Given the description of an element on the screen output the (x, y) to click on. 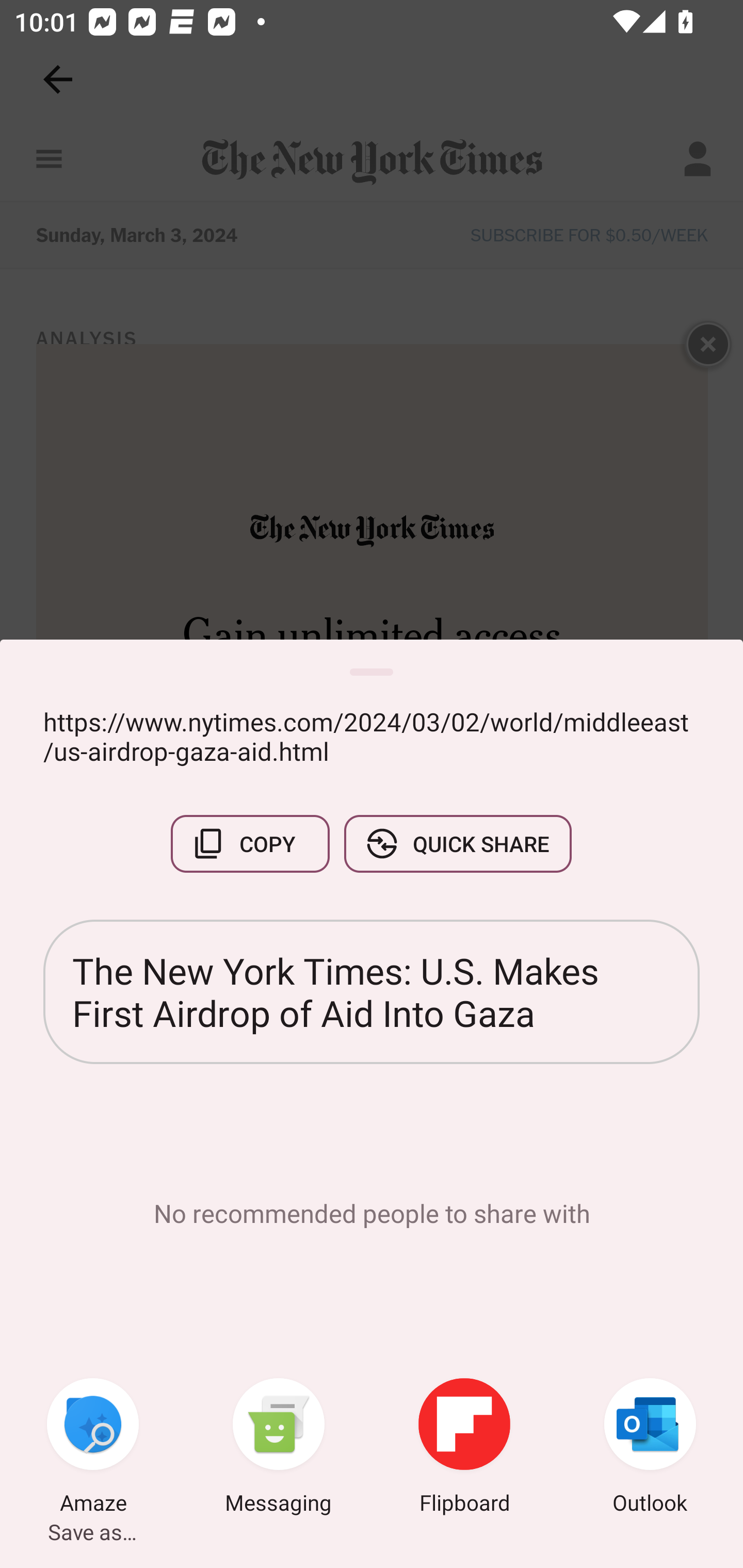
COPY (249, 844)
QUICK SHARE (457, 844)
Amaze Save as… (92, 1448)
Messaging (278, 1448)
Flipboard (464, 1448)
Outlook (650, 1448)
